Given the description of an element on the screen output the (x, y) to click on. 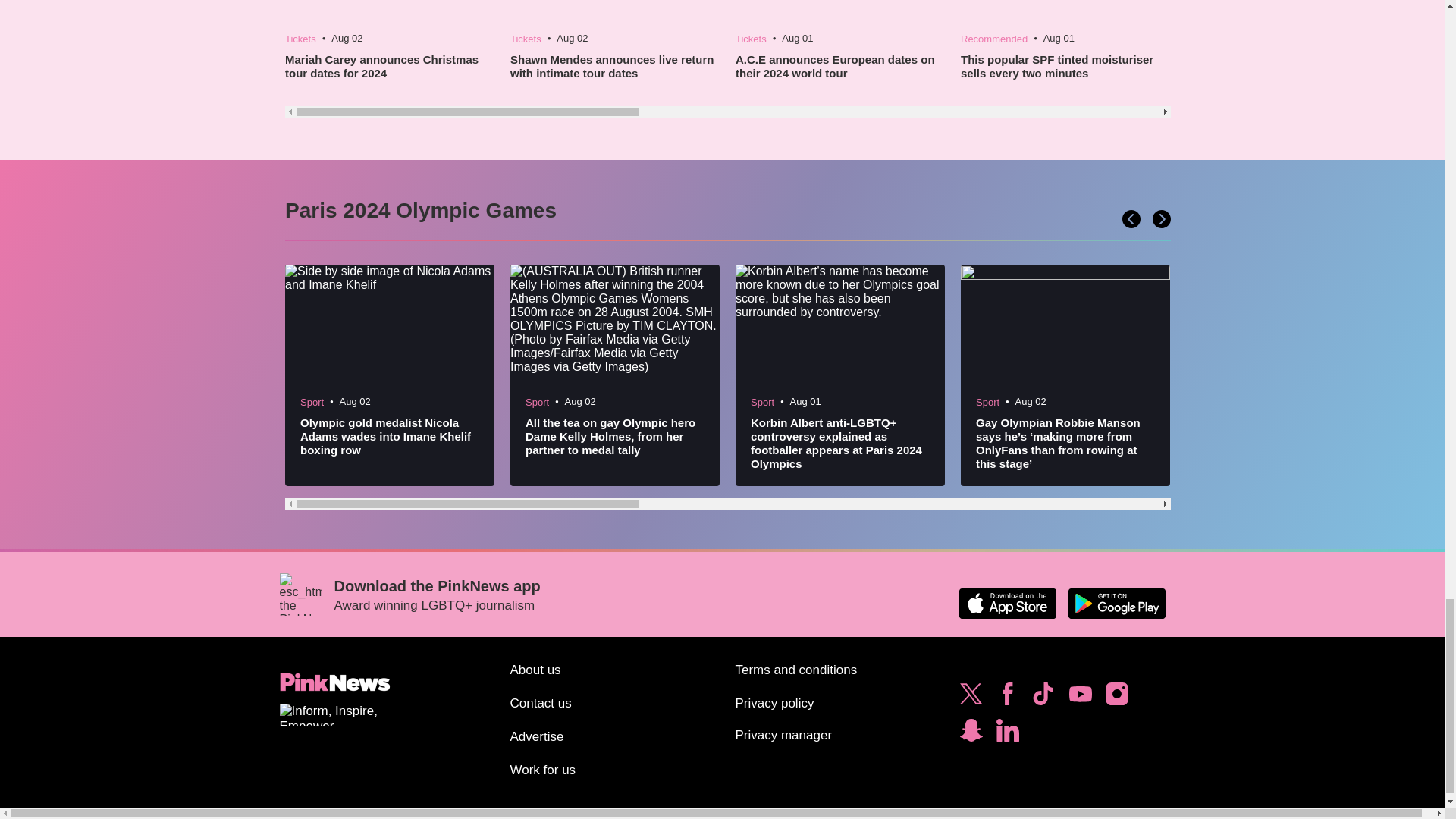
Subscribe to PinkNews on Snapchat (970, 733)
Subscribe to PinkNews on YouTube (1079, 697)
Follow PinkNews on LinkedIn (1007, 733)
Follow PinkNews on Twitter (970, 697)
Follow PinkNews on TikTok (1042, 697)
Follow PinkNews on Instagram (1116, 697)
Download the PinkNews app on Google Play (1115, 603)
Download the PinkNews app on the Apple App Store (1006, 603)
